Given the description of an element on the screen output the (x, y) to click on. 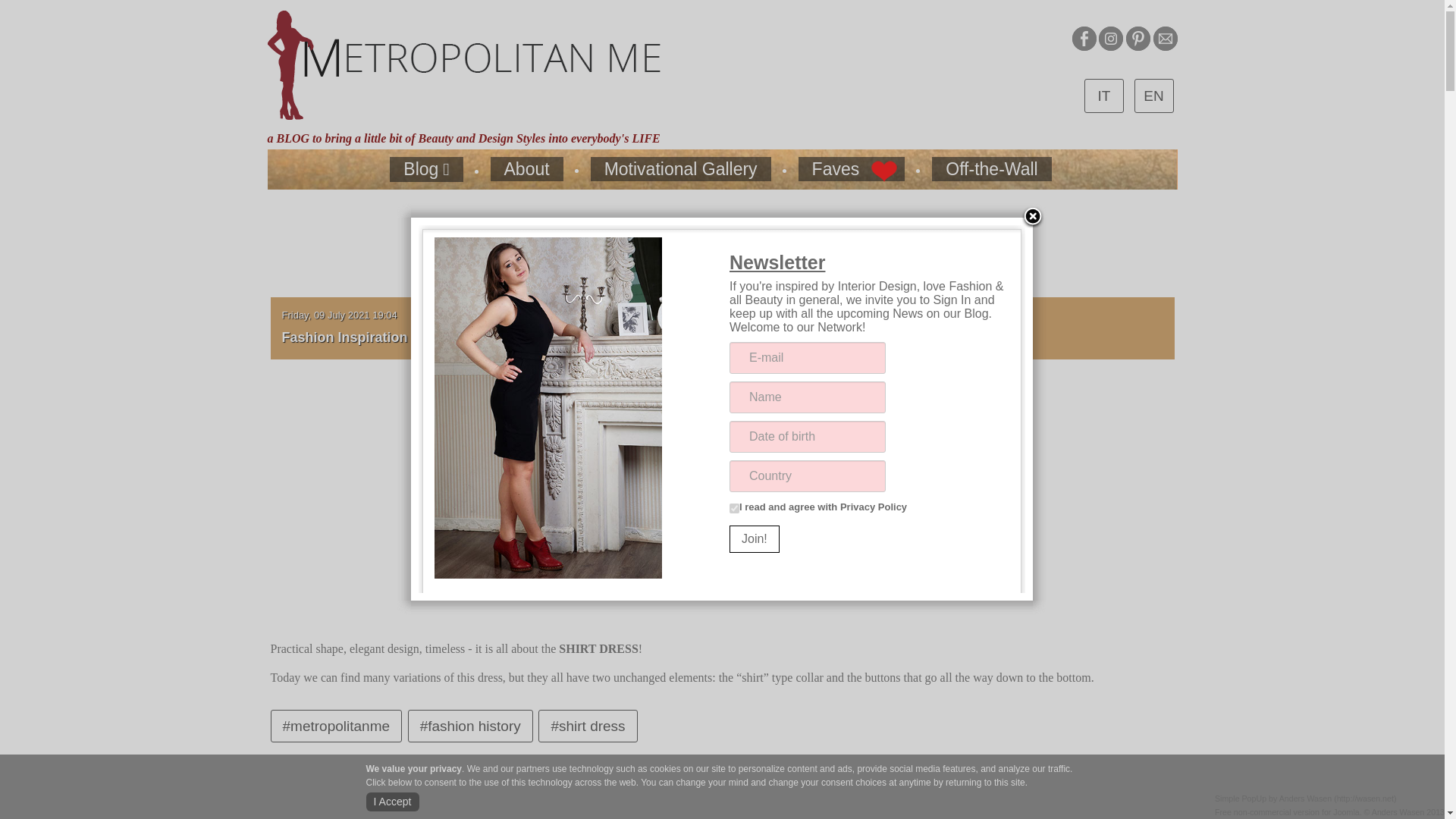
fashion history (469, 726)
About (526, 168)
Blog (426, 169)
shirt dress (587, 726)
Faves (851, 168)
Join! (753, 538)
EN (1153, 95)
IT (1104, 95)
Fashion Inspiration (344, 335)
on (734, 508)
Motivational Gallery (681, 168)
A small history of the SHIRT DRESS (722, 484)
Off-the-Wall (991, 168)
metropolitanme (335, 726)
A small history of the SHIRT DRESS (539, 335)
